Given the description of an element on the screen output the (x, y) to click on. 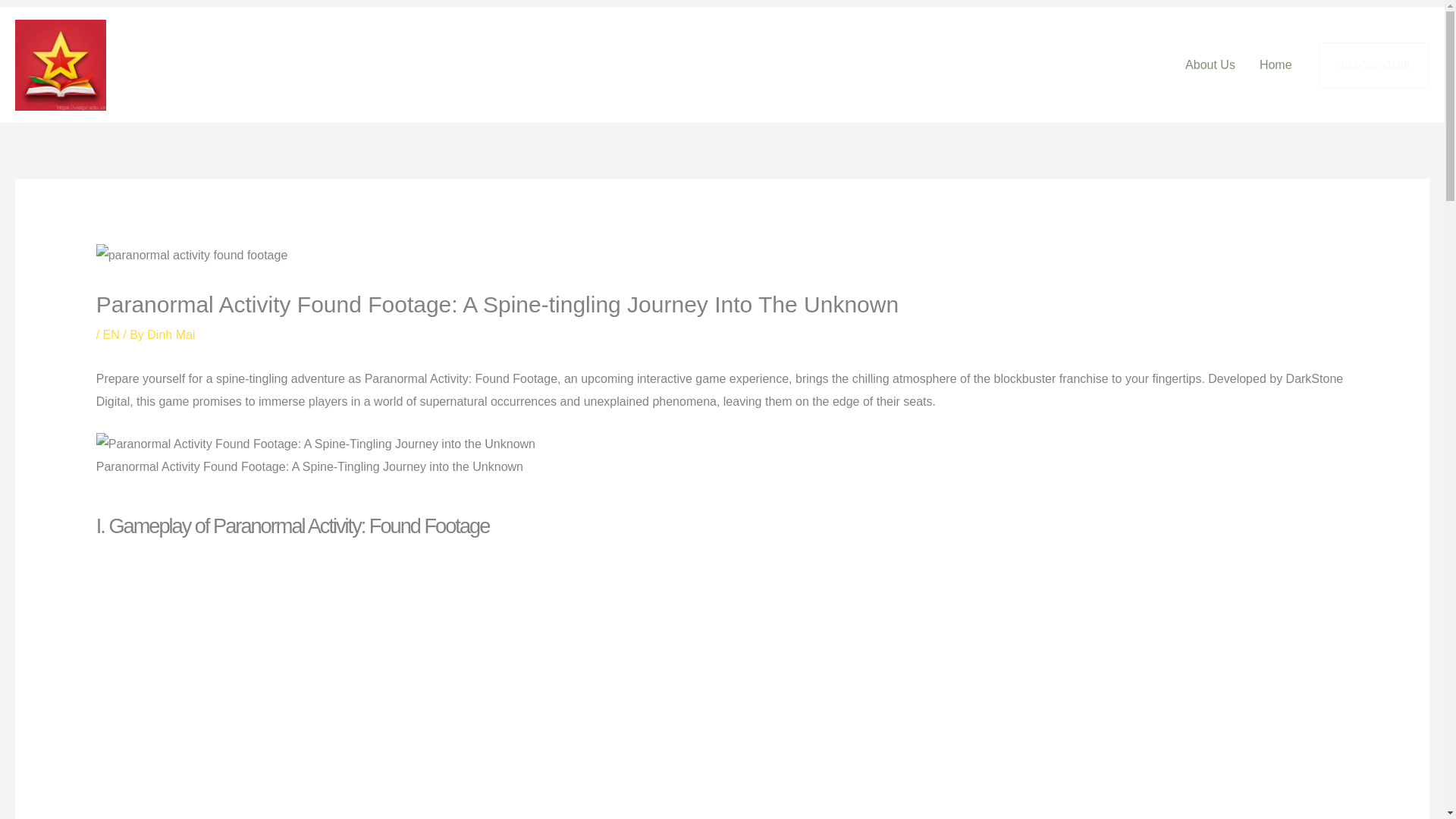
EN (111, 334)
202-555-0188 (1374, 64)
Dinh Mai (171, 334)
About Us (1210, 64)
Home (1275, 64)
View all posts by Dinh Mai (171, 334)
